Given the description of an element on the screen output the (x, y) to click on. 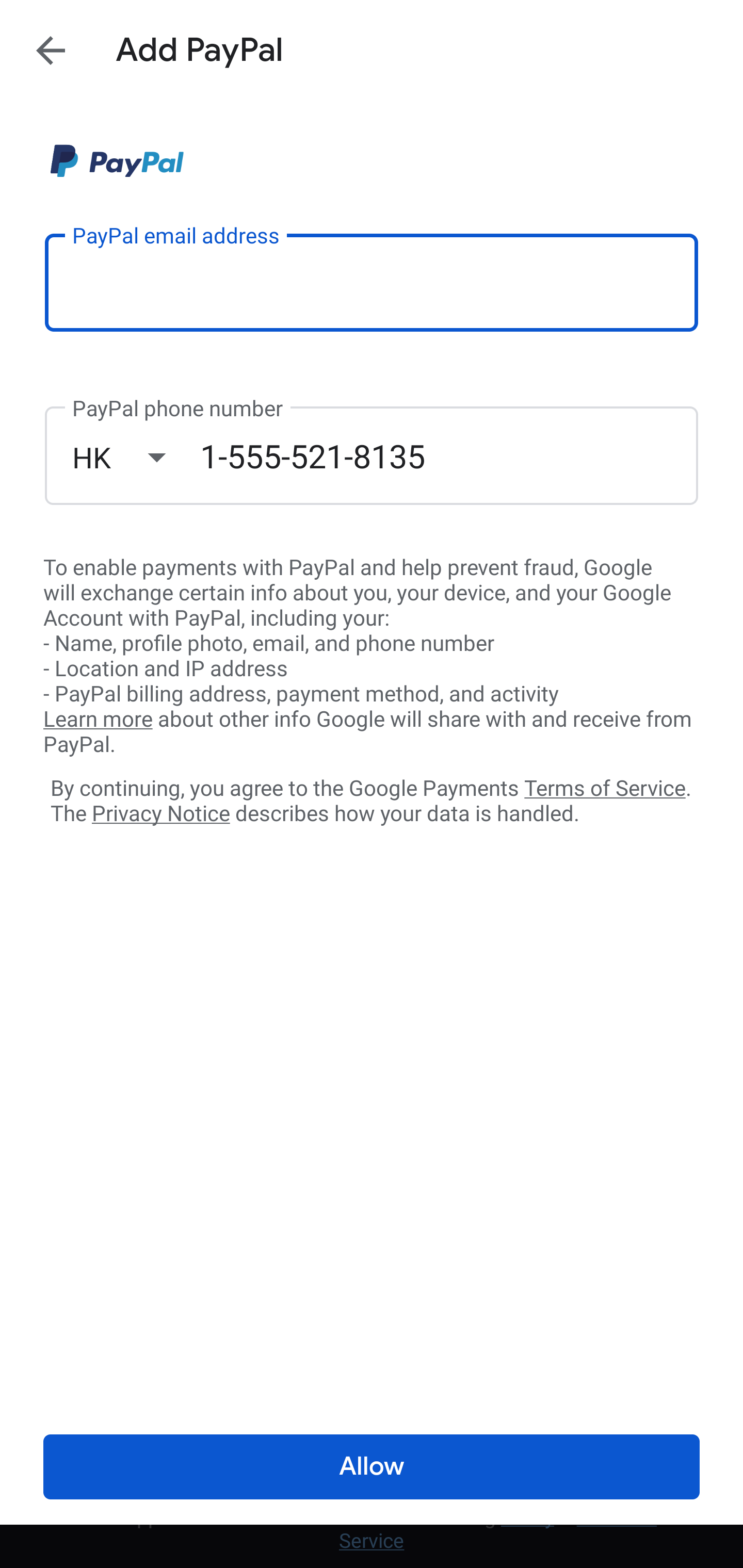
Navigate up (50, 50)
PayPal email address (371, 282)
HK (135, 456)
Learn more (97, 719)
Terms of Service (604, 787)
Privacy Notice (160, 814)
Allow (371, 1466)
